Given the description of an element on the screen output the (x, y) to click on. 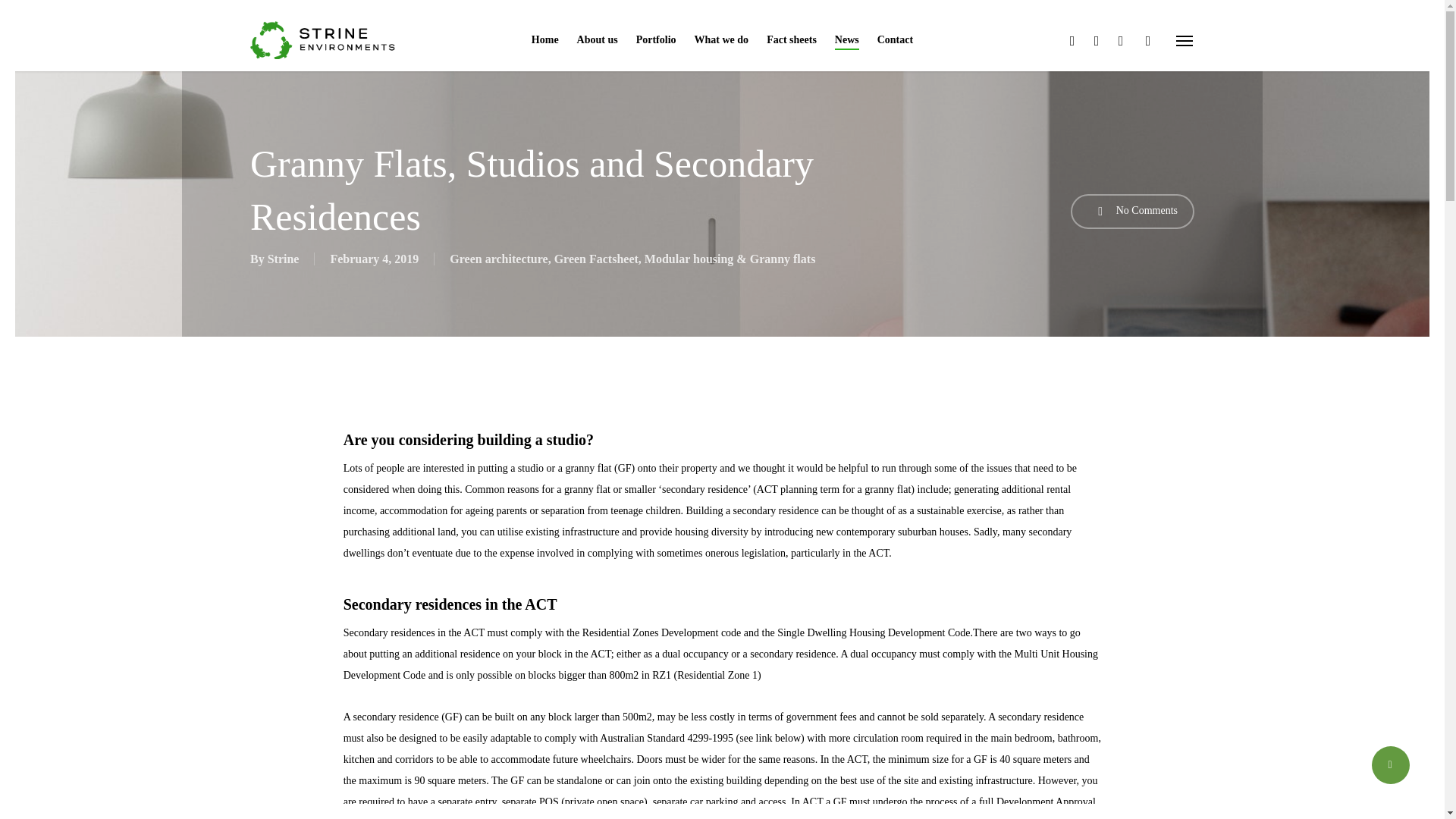
facebook (1096, 39)
Green architecture (498, 258)
Home (545, 40)
What we do (721, 40)
Menu (1184, 39)
Contact (894, 40)
phone (1147, 39)
News (846, 40)
Strine (283, 258)
No Comments (1131, 211)
Green Factsheet (596, 258)
Fact sheets (791, 40)
Portfolio (656, 40)
twitter (1072, 39)
About us (596, 40)
